Given the description of an element on the screen output the (x, y) to click on. 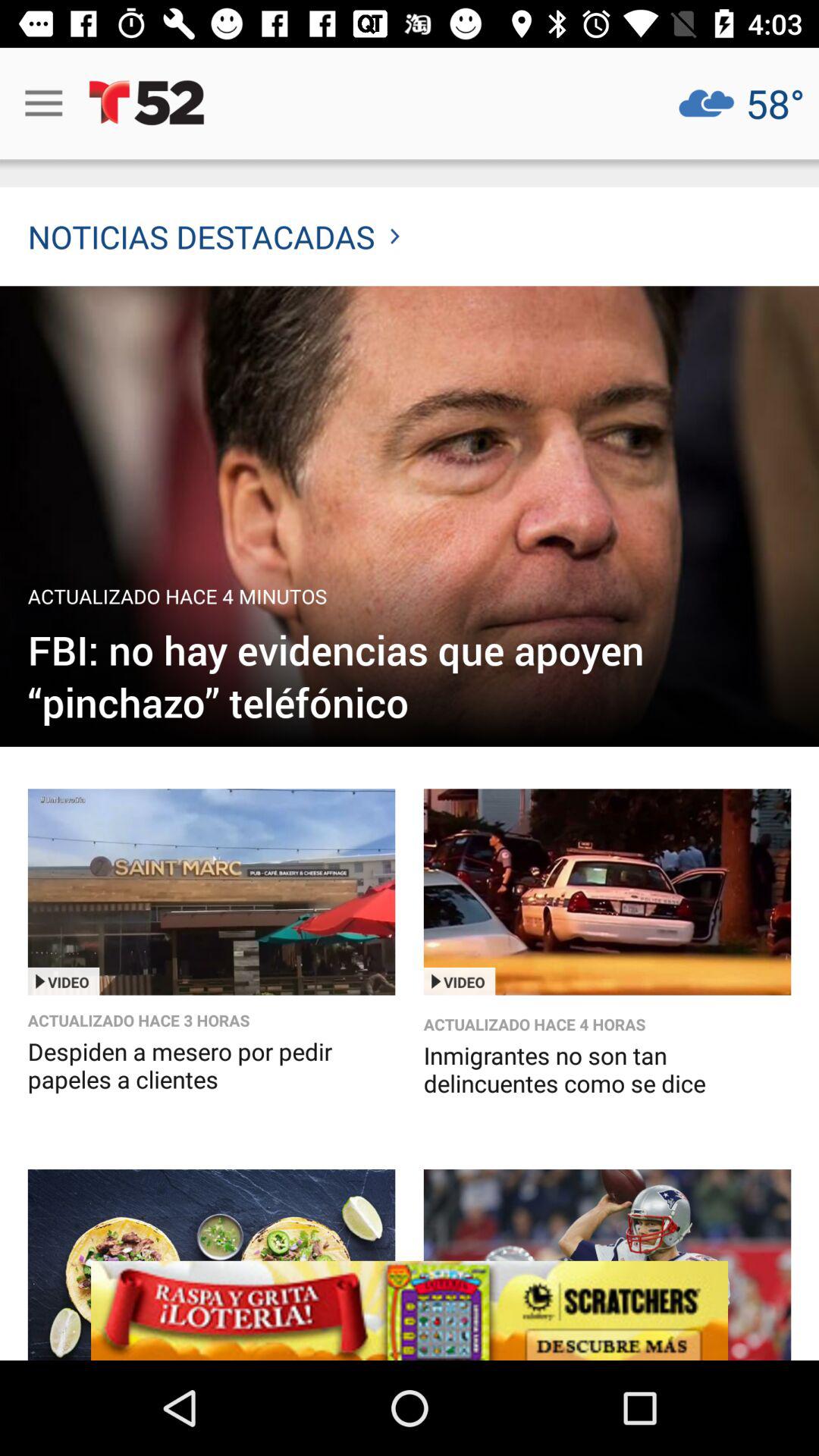
read news article (409, 516)
